Given the description of an element on the screen output the (x, y) to click on. 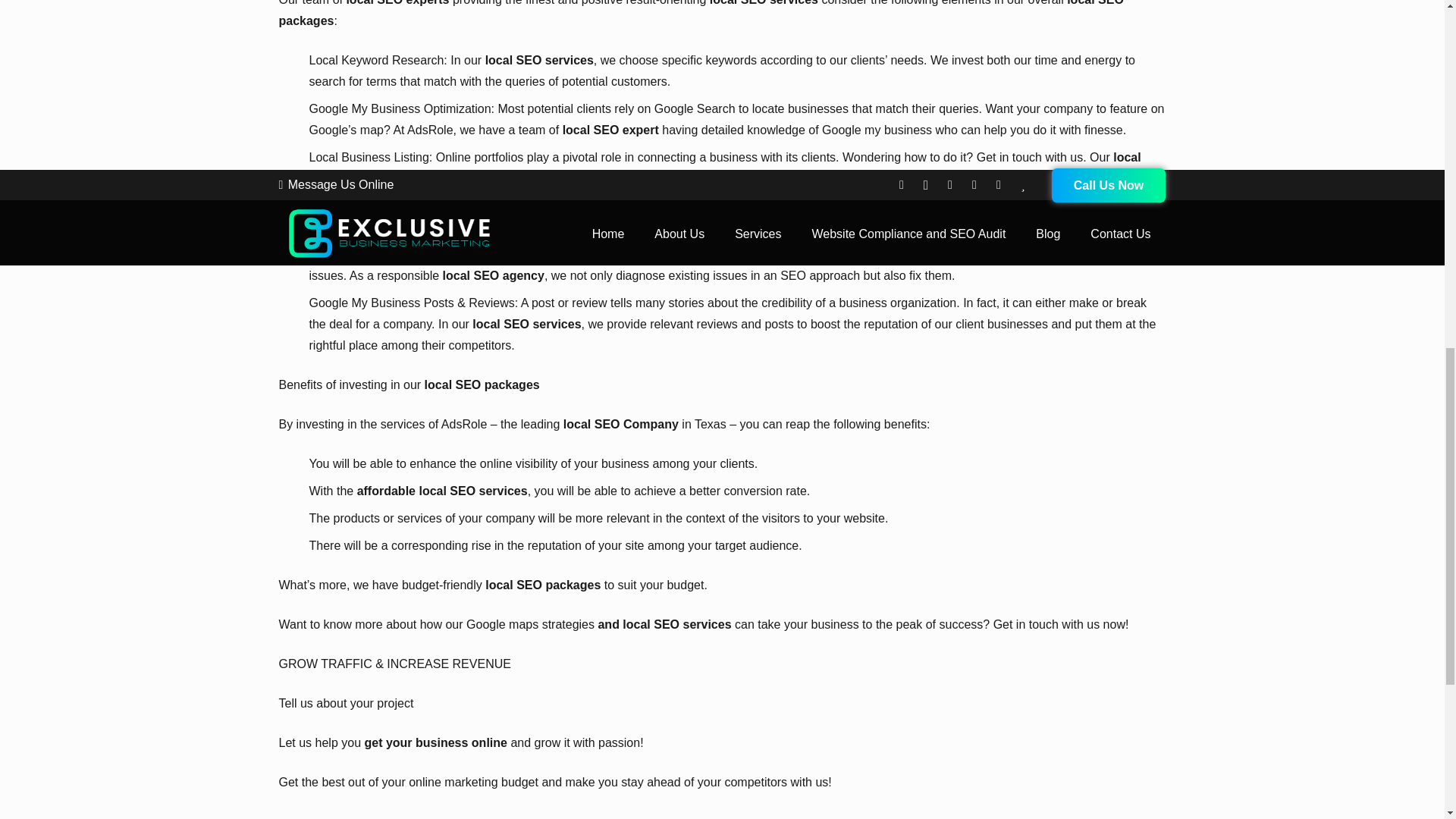
get your business online (435, 742)
Back to top (1413, 30)
